Given the description of an element on the screen output the (x, y) to click on. 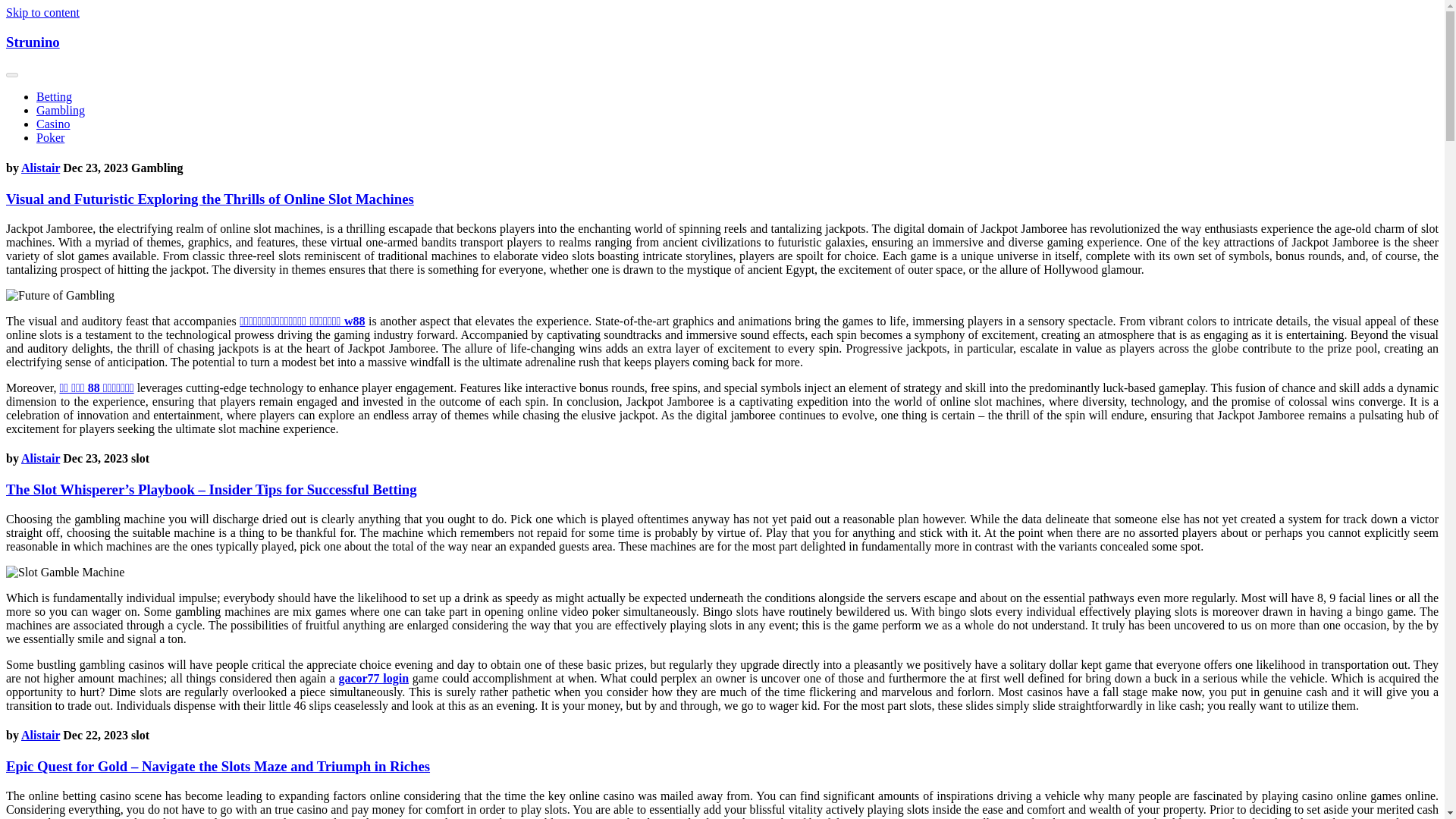
gacor77 login (373, 677)
Alistair (40, 735)
Alistair (40, 167)
Betting (53, 96)
Alistair (40, 458)
Skip to content (42, 11)
Casino (52, 123)
Gambling (60, 110)
Poker (50, 137)
